Given the description of an element on the screen output the (x, y) to click on. 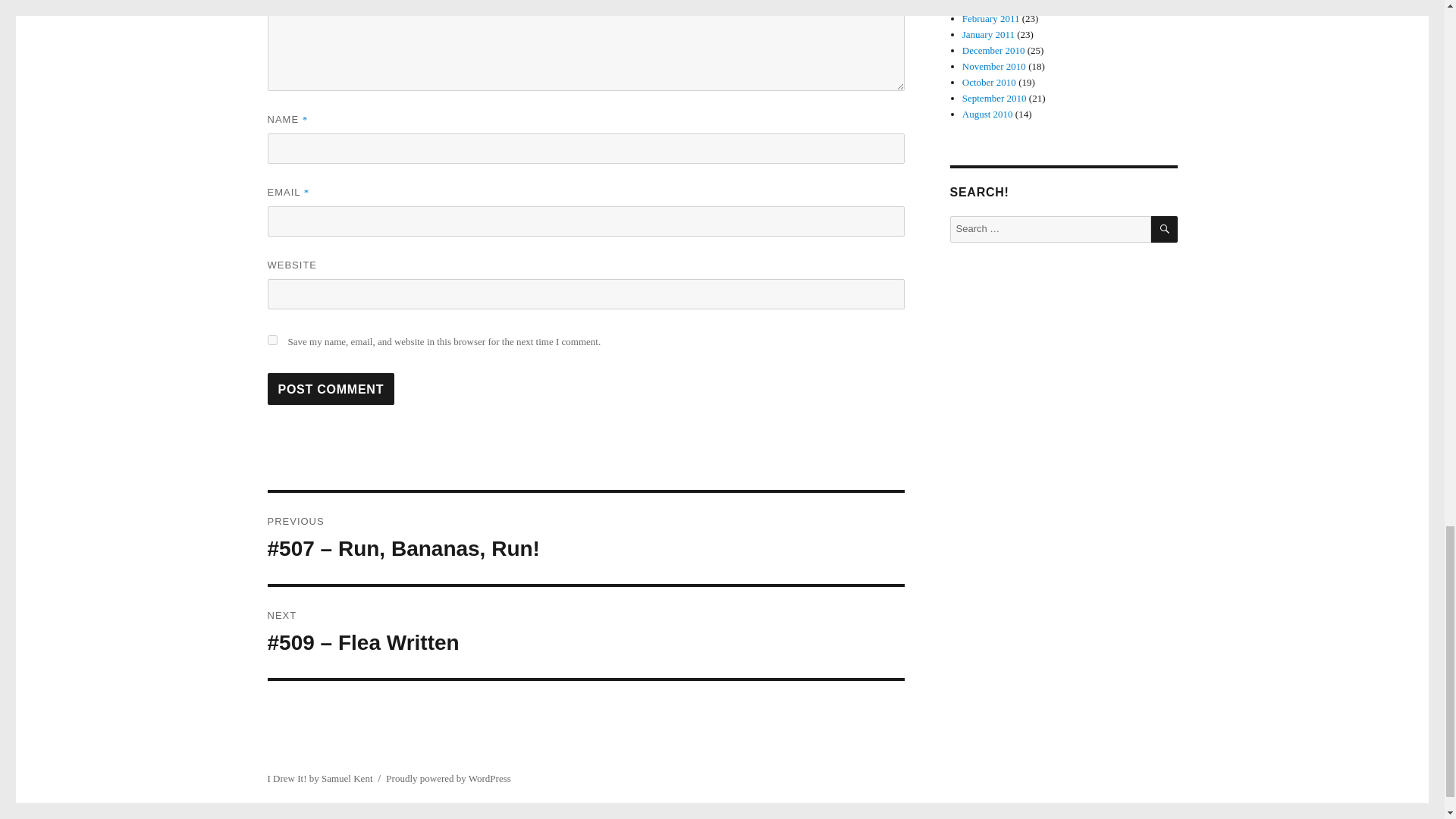
Post Comment (330, 388)
yes (271, 339)
Post Comment (330, 388)
